Given the description of an element on the screen output the (x, y) to click on. 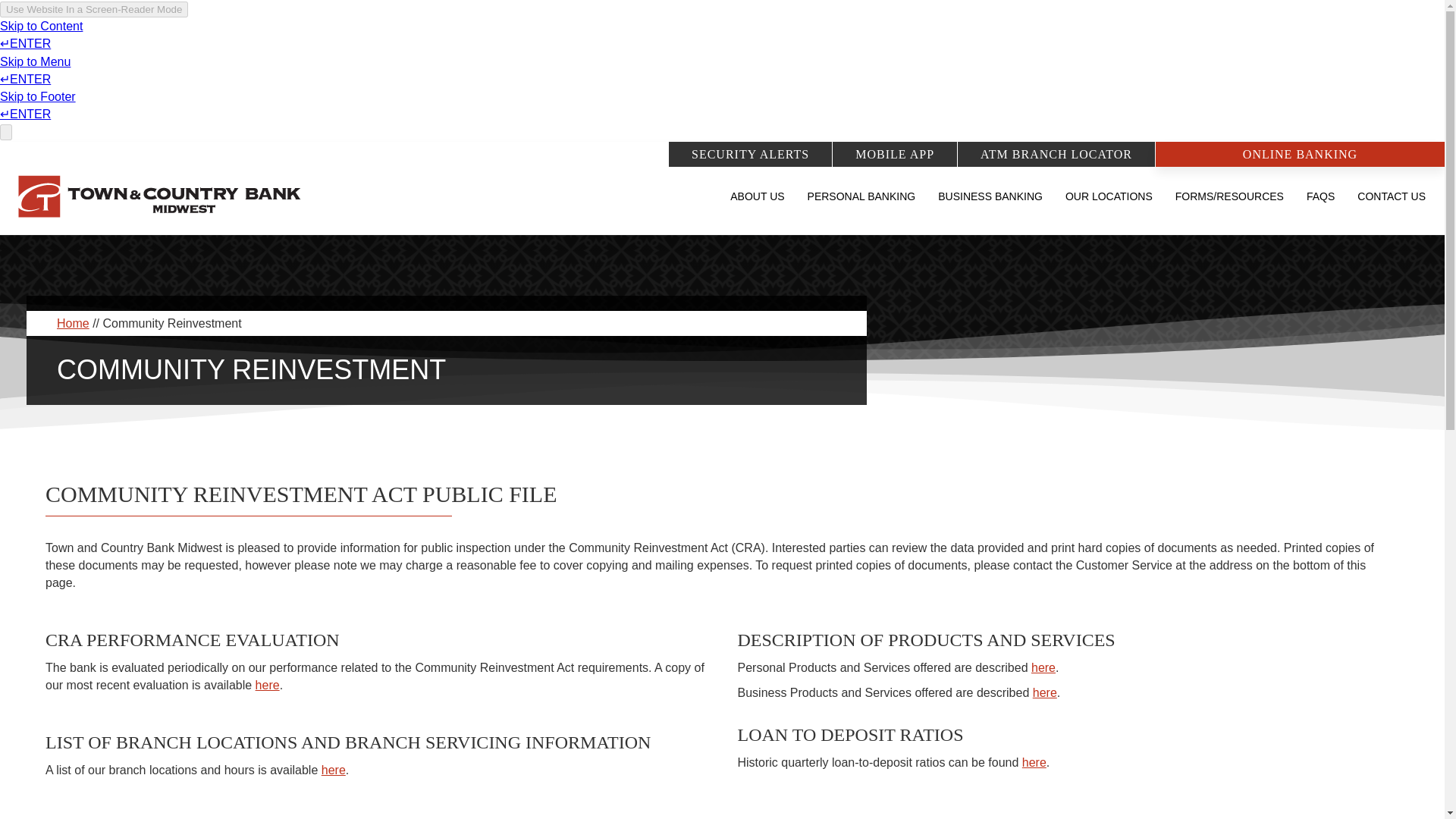
BUSINESS BANKING (990, 207)
here (1042, 667)
PERSONAL BANKING (861, 207)
here (333, 769)
Home (72, 323)
here (267, 684)
OUR LOCATIONS (1108, 207)
MOBILE APP (894, 153)
SECURITY ALERTS (749, 153)
FAQS (1320, 207)
ATM BRANCH LOCATOR (1056, 153)
ABOUT US (756, 207)
here (1044, 692)
CONTACT US (1391, 207)
